Given the description of an element on the screen output the (x, y) to click on. 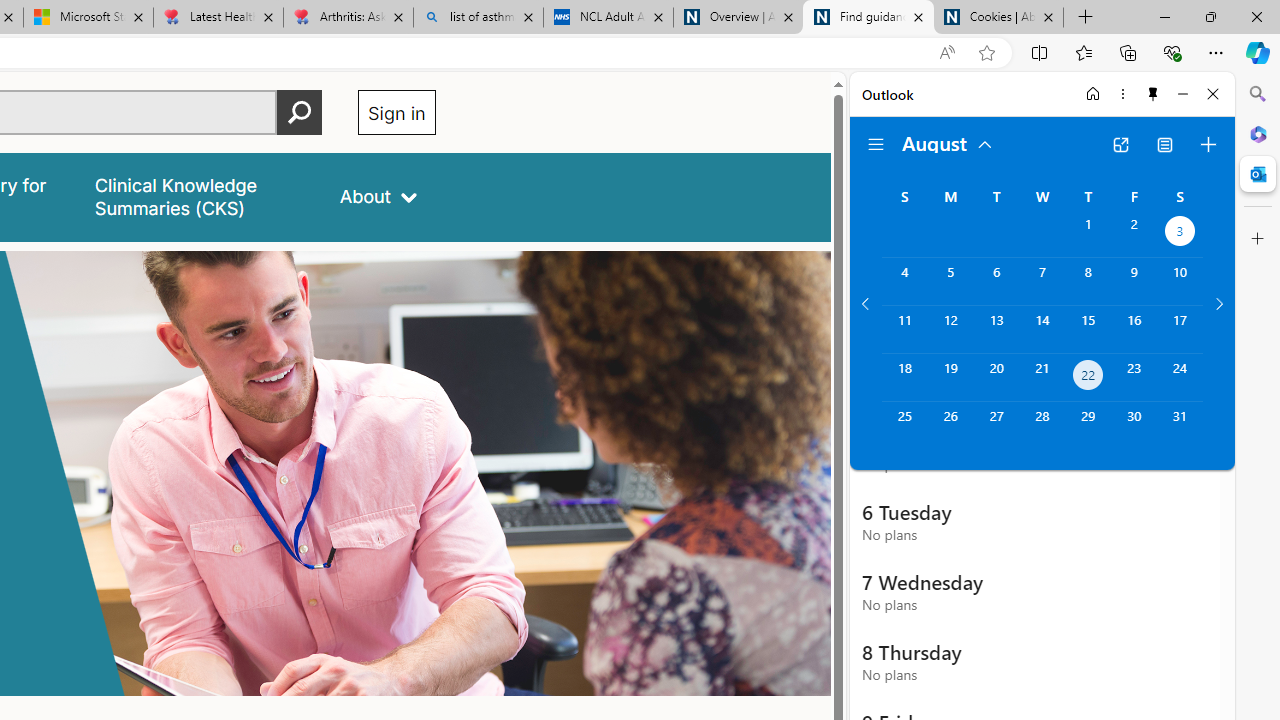
Tuesday, August 6, 2024.  (996, 281)
August (948, 141)
Friday, August 16, 2024.  (1134, 329)
View Switcher. Current view is Agenda view (1165, 144)
Saturday, August 10, 2024.  (1180, 281)
Monday, August 19, 2024.  (950, 377)
Saturday, August 3, 2024. Date selected.  (1180, 233)
Sunday, August 4, 2024.  (904, 281)
Unpin side pane (1153, 93)
Thursday, August 15, 2024.  (1088, 329)
Friday, August 30, 2024.  (1134, 425)
